Given the description of an element on the screen output the (x, y) to click on. 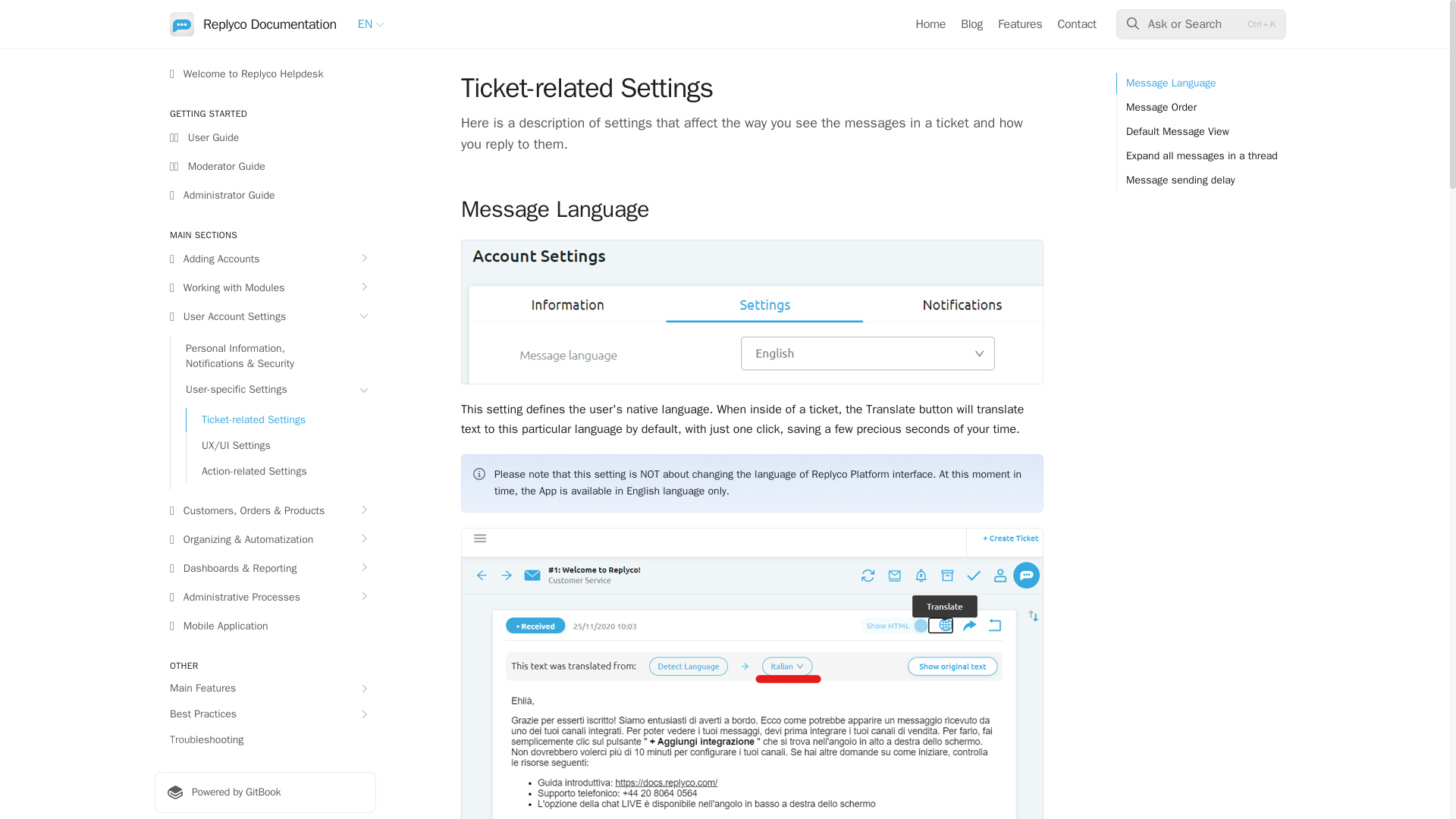
Features (1019, 24)
Replyco Documentation (253, 24)
